Given the description of an element on the screen output the (x, y) to click on. 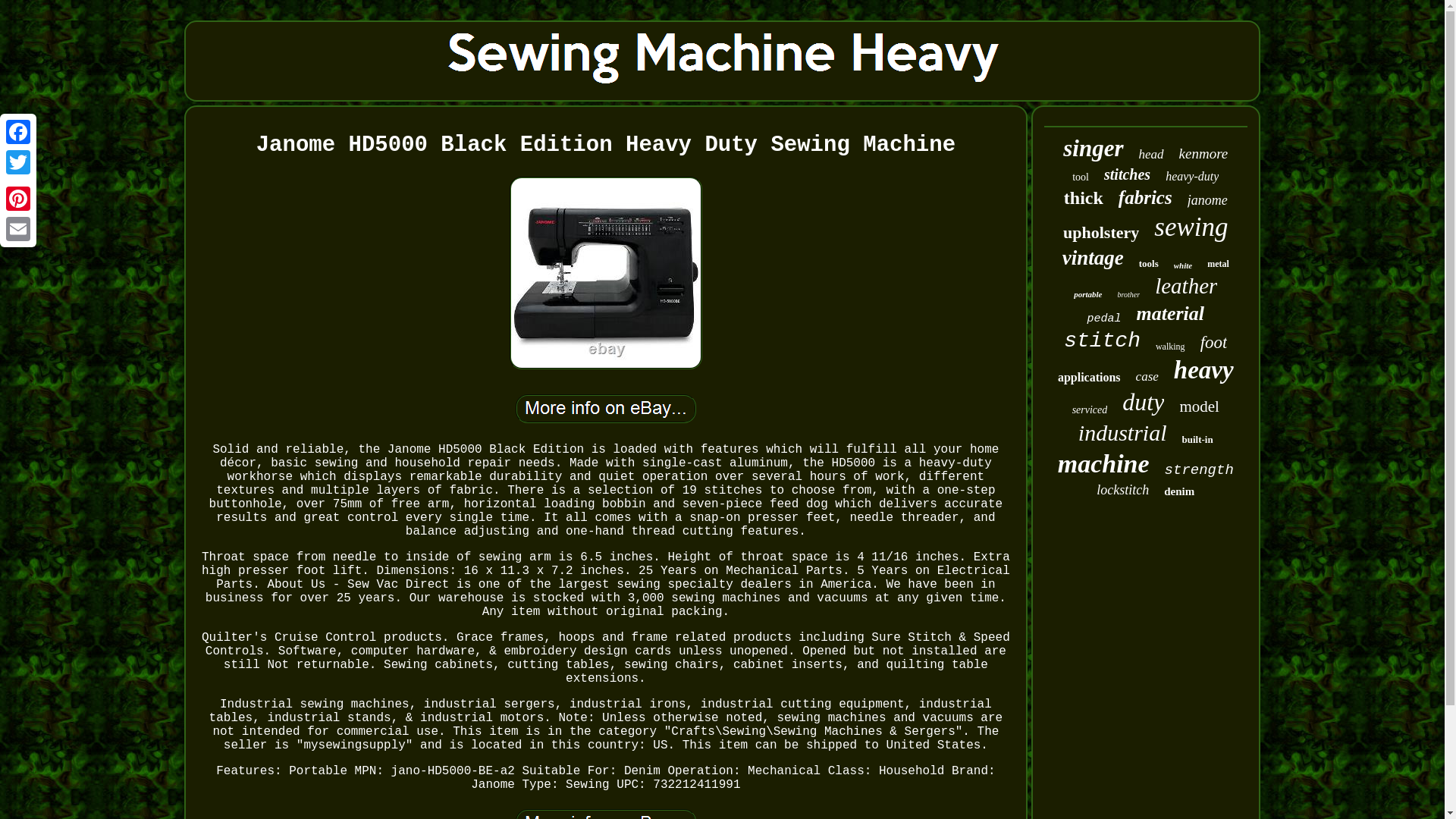
vintage (1093, 258)
Janome HD5000 Black Edition Heavy Duty Sewing Machine (605, 408)
sewing (1190, 227)
pedal (1103, 318)
metal (1217, 264)
upholstery (1100, 232)
tool (1080, 177)
stitch (1102, 340)
tools (1148, 263)
singer (1092, 148)
